Given the description of an element on the screen output the (x, y) to click on. 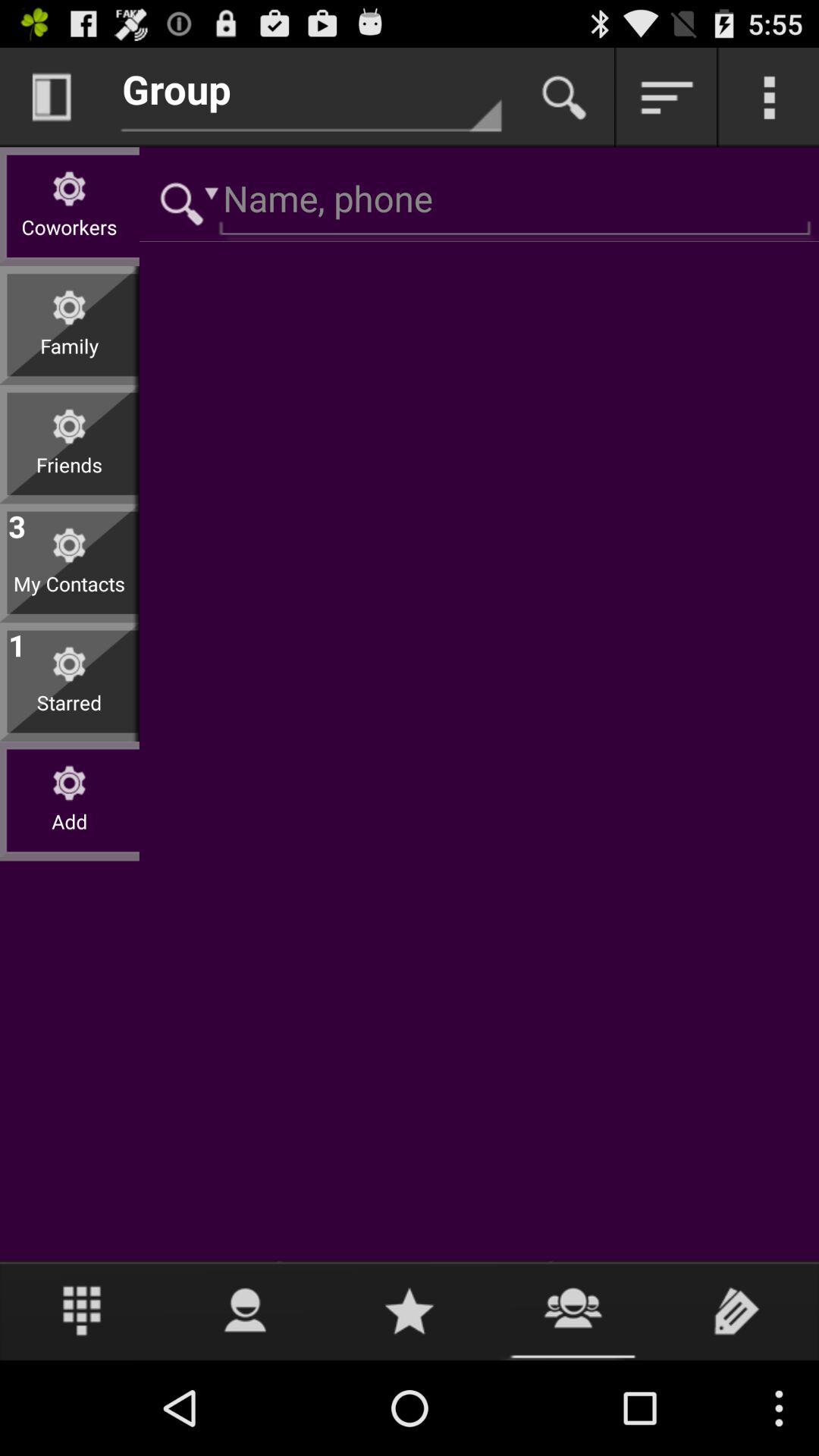
jump to the coworkers item (69, 238)
